Given the description of an element on the screen output the (x, y) to click on. 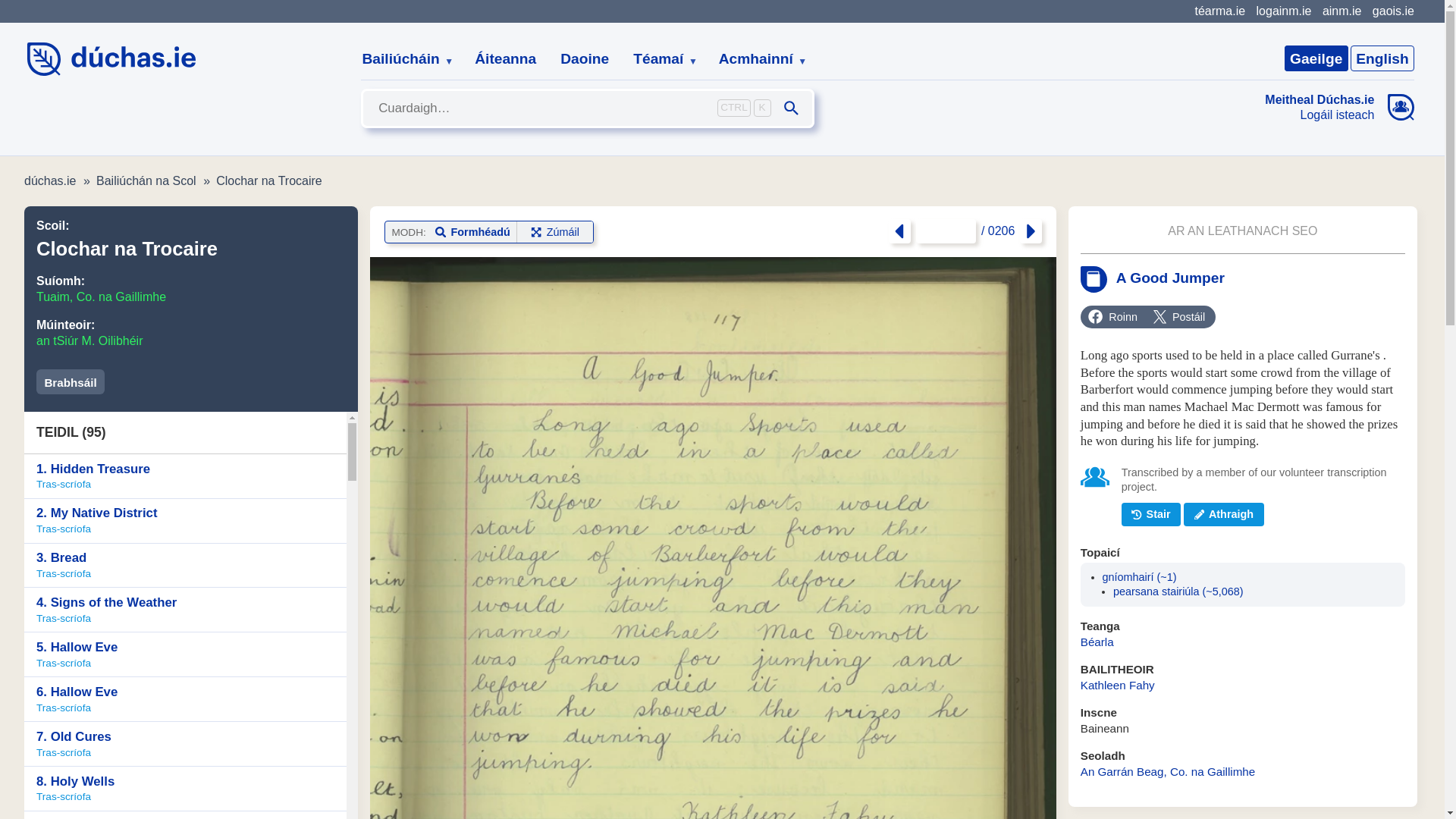
gaois.ie (1393, 11)
Daoine (584, 58)
English (1382, 58)
Clochar na Trocaire (268, 180)
Gaeilge (1316, 58)
ainm.ie (1341, 11)
Tuaim, Co. na Gaillimhe (100, 296)
logainm.ie (1283, 11)
